Given the description of an element on the screen output the (x, y) to click on. 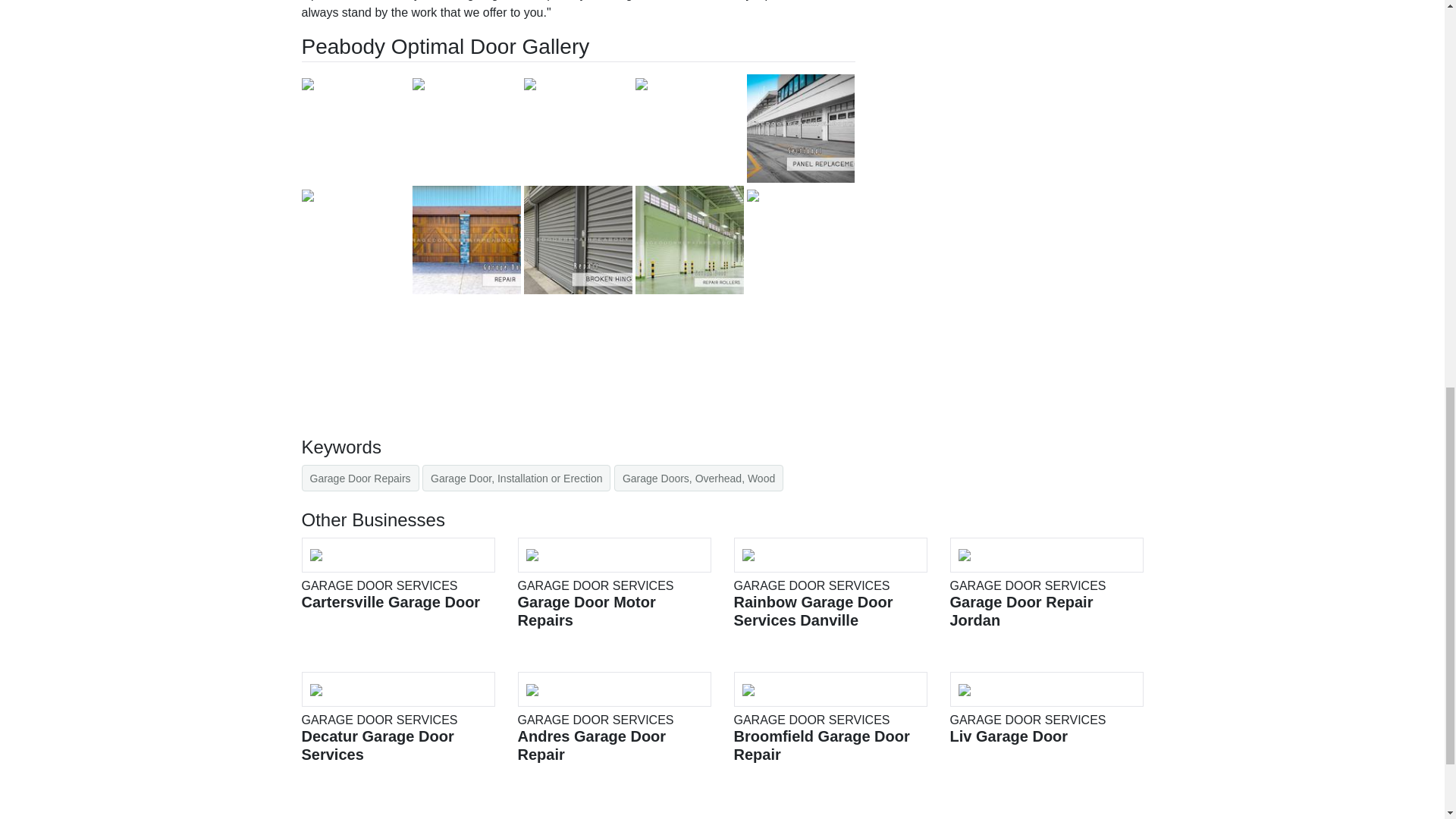
Garage Door Repairs (360, 478)
Garage Door, Installation or Erection (398, 573)
Garage Doors, Overhead, Wood (516, 478)
